Given the description of an element on the screen output the (x, y) to click on. 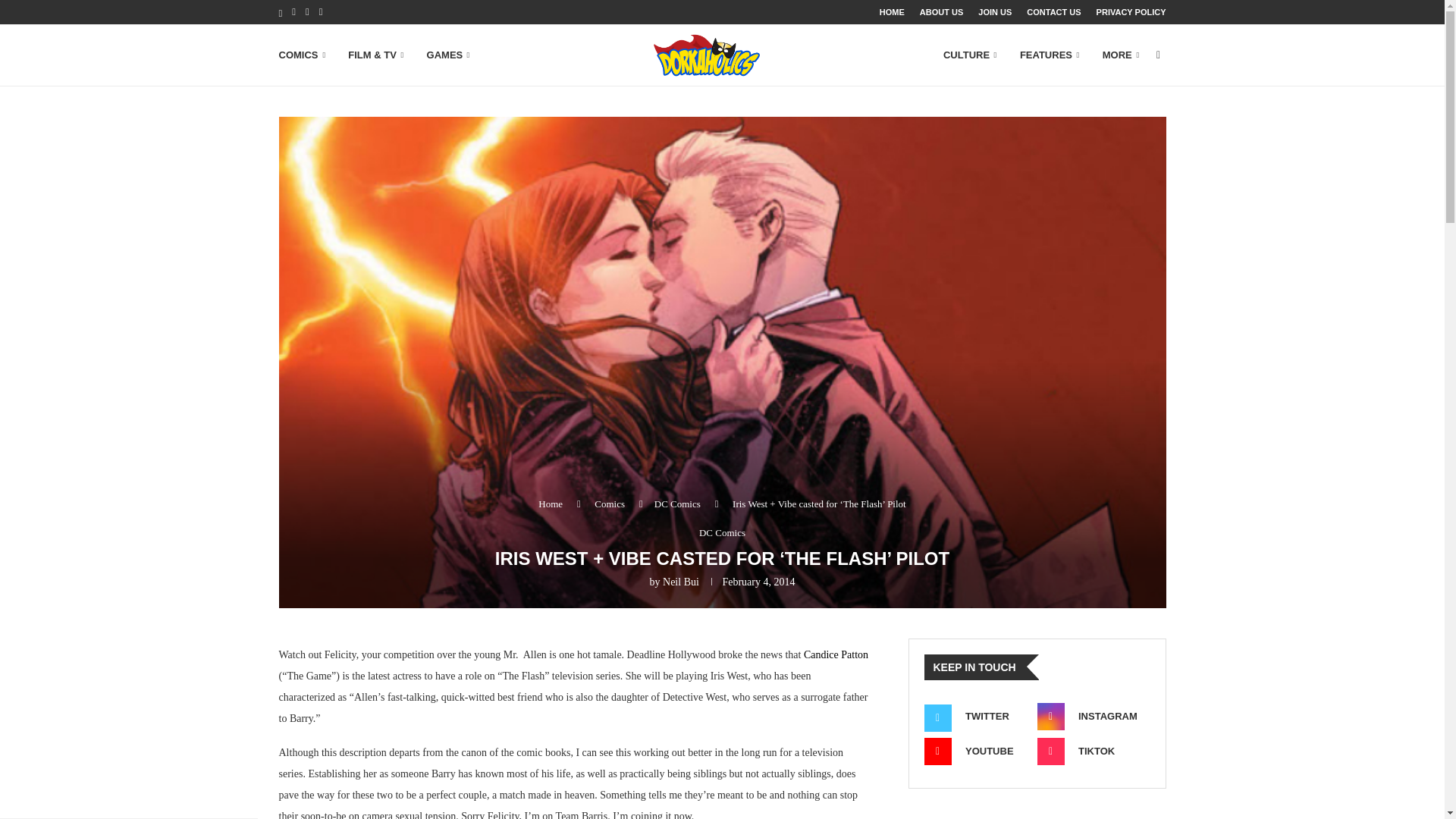
DC Comics (721, 532)
CONTACT US (1053, 12)
FEATURES (1050, 55)
Home (550, 503)
Candice Patton (835, 654)
HOME (891, 12)
Neil Bui (680, 582)
ABOUT US (941, 12)
PRIVACY POLICY (1131, 12)
Comics (609, 503)
DC Comics (676, 503)
JOIN US (994, 12)
